Given the description of an element on the screen output the (x, y) to click on. 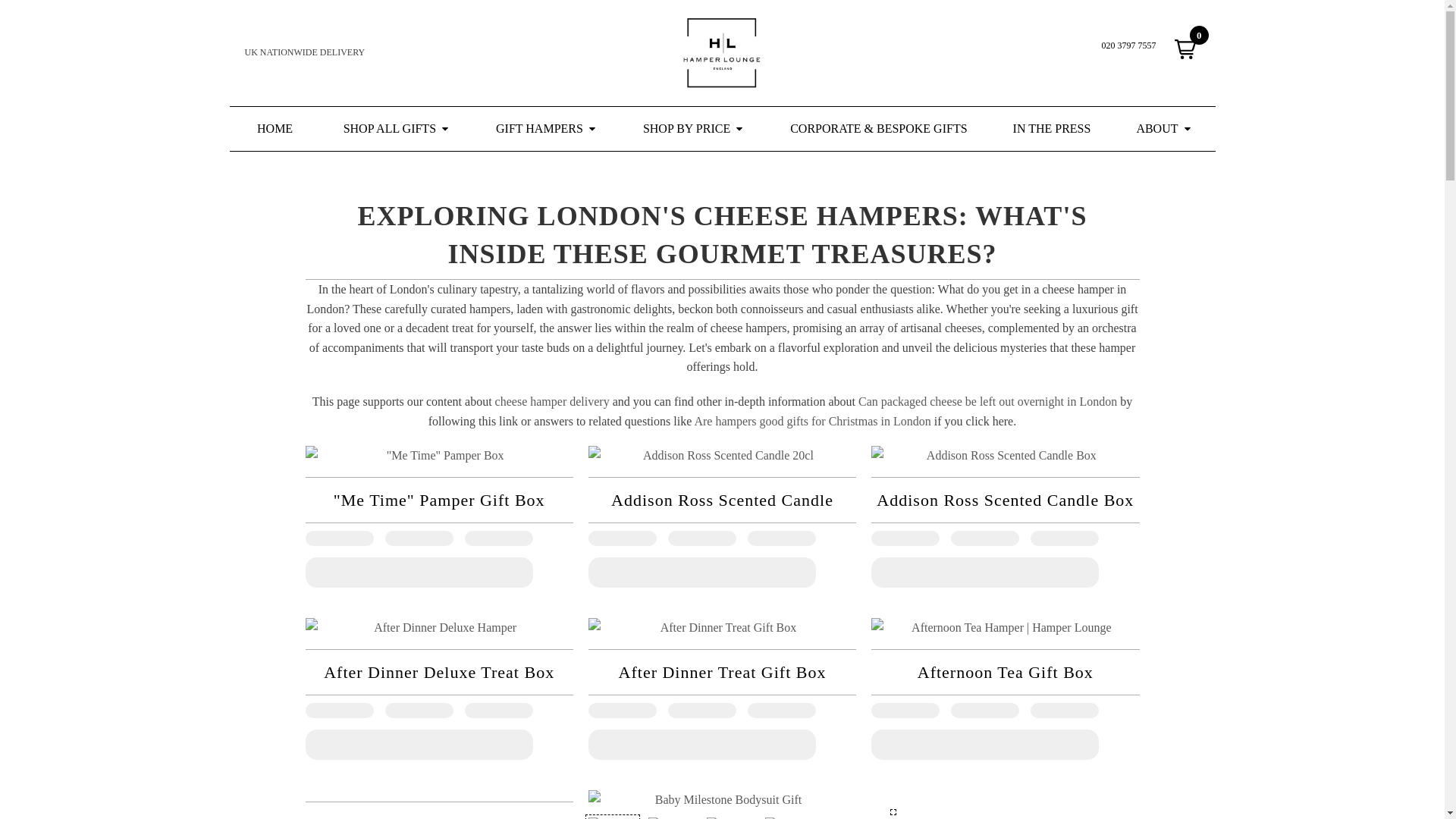
020 3797 7557 (1128, 45)
0 (1184, 49)
SHOP BY PRICE (693, 128)
HOME (274, 128)
GIFT HAMPERS (546, 128)
SHOP ALL GIFTS (396, 128)
